Given the description of an element on the screen output the (x, y) to click on. 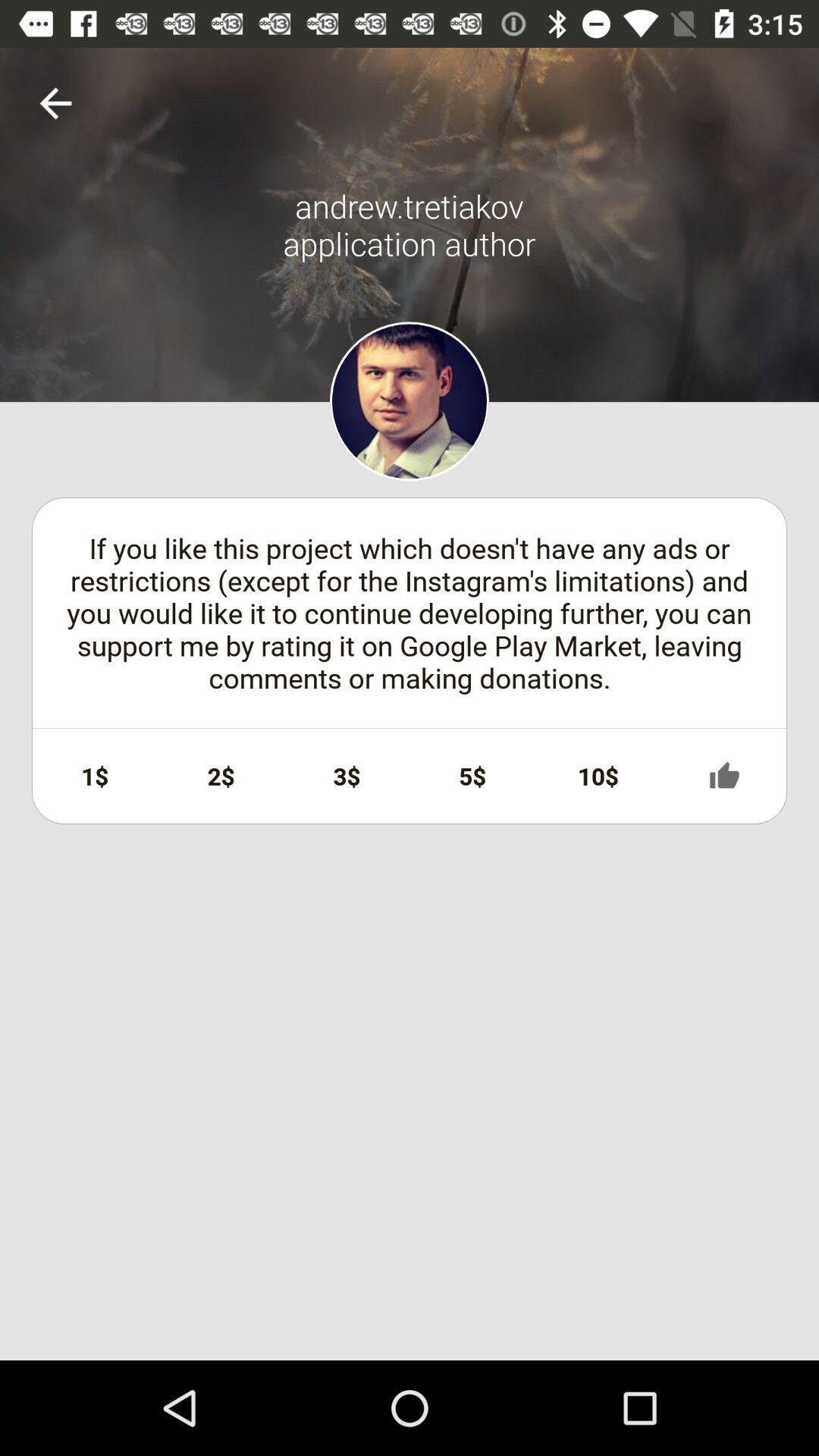
select icon to the right of 3$ item (472, 776)
